Given the description of an element on the screen output the (x, y) to click on. 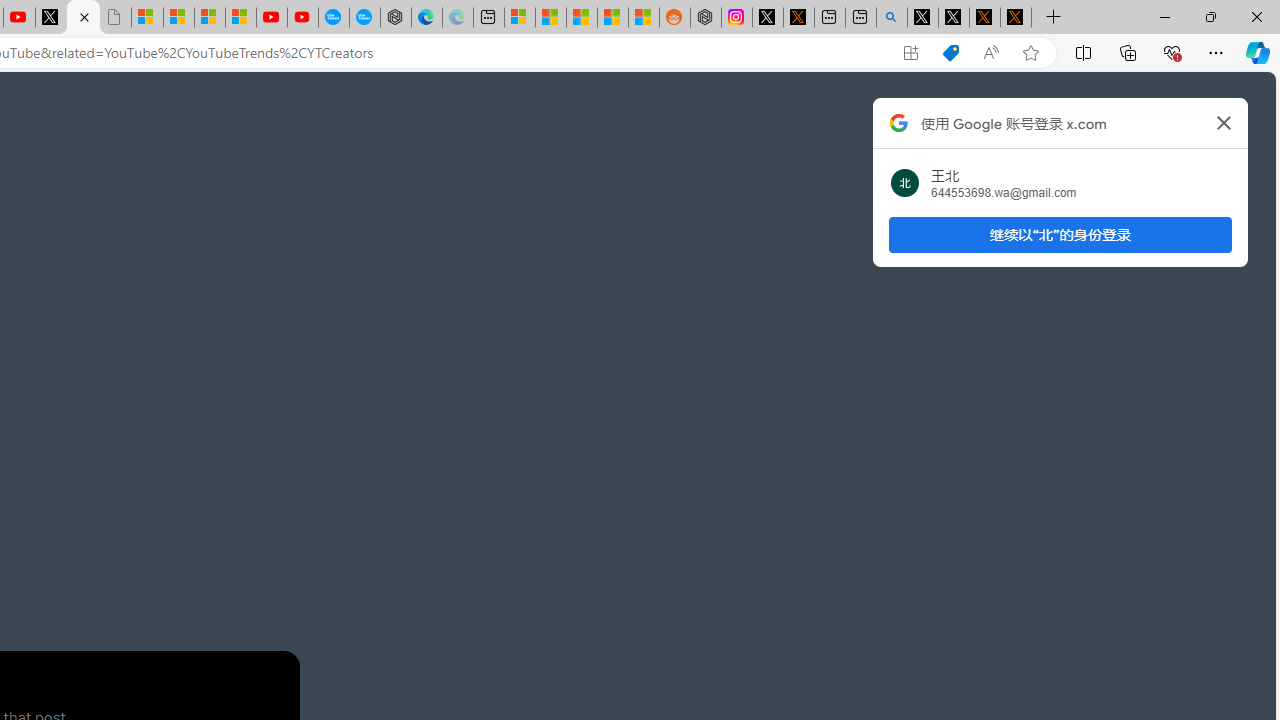
Minimize (1164, 16)
New Tab (1053, 17)
Gloom - YouTube (271, 17)
X Privacy Policy (1015, 17)
Add this page to favorites (Ctrl+D) (1030, 53)
Split screen (1083, 52)
App available. Install X (910, 53)
Shopping in Microsoft Edge (950, 53)
